Given the description of an element on the screen output the (x, y) to click on. 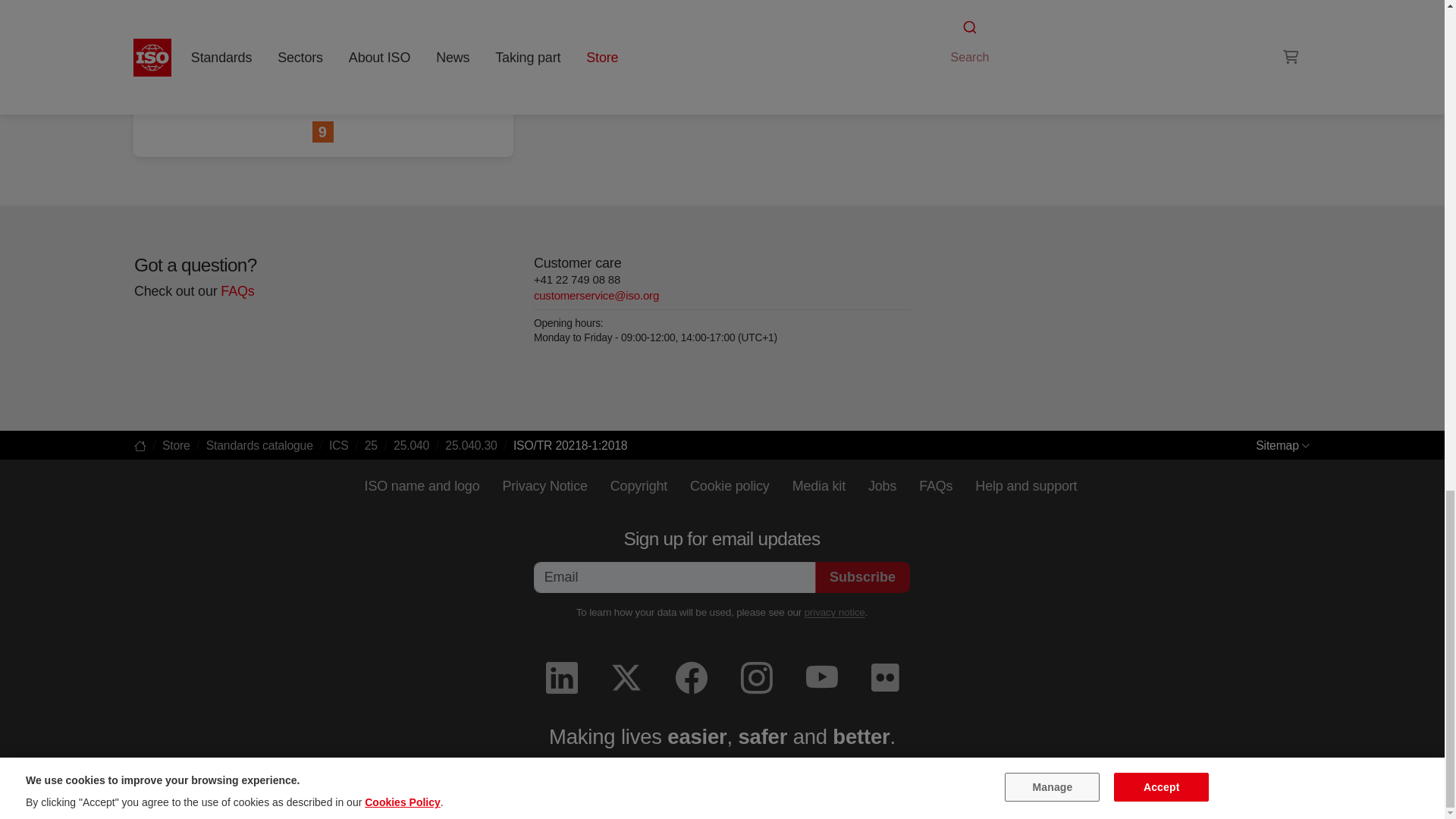
Industry, Innovation and Infrastructure (323, 132)
